Given the description of an element on the screen output the (x, y) to click on. 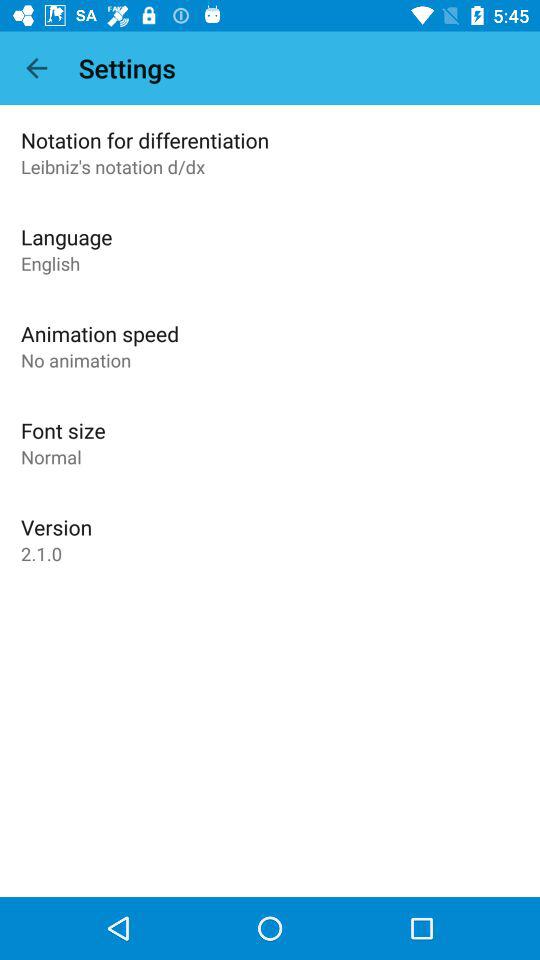
exit settings screen (36, 68)
